Given the description of an element on the screen output the (x, y) to click on. 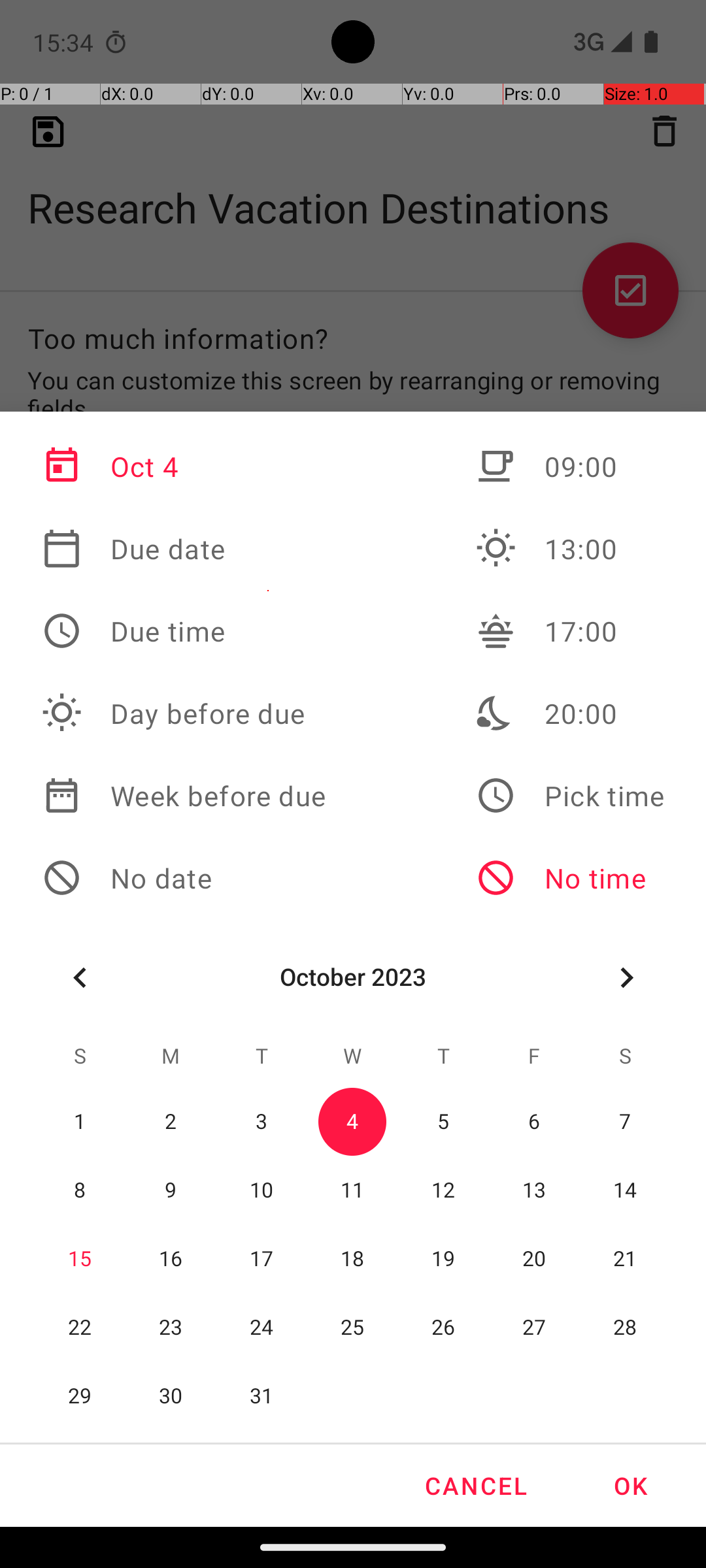
Oct 4 Element type: android.widget.CompoundButton (183, 466)
